Given the description of an element on the screen output the (x, y) to click on. 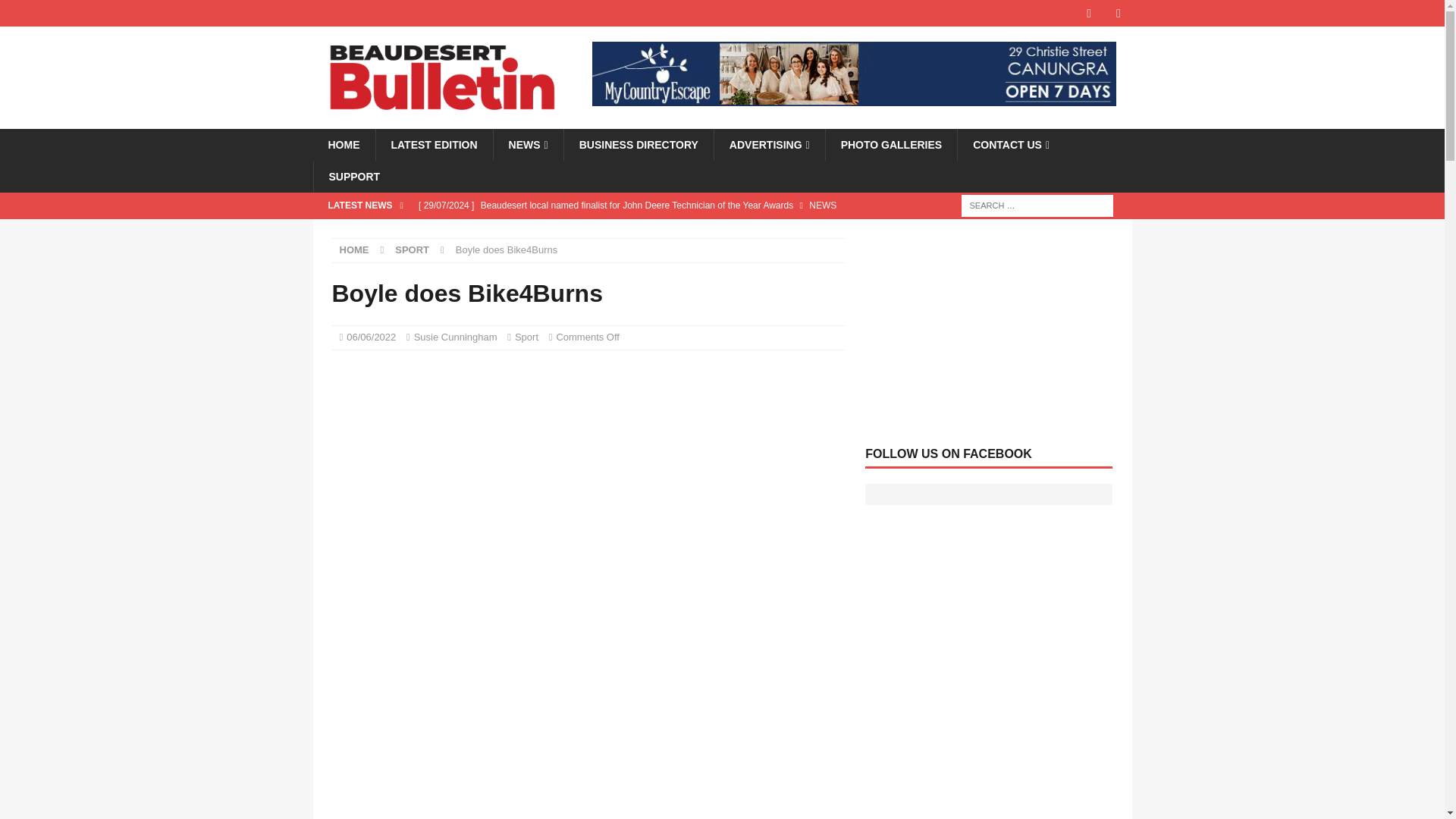
Future of Beaudesert Show is bright (627, 231)
NEWS (528, 144)
HOME (343, 144)
LATEST EDITION (433, 144)
